Given the description of an element on the screen output the (x, y) to click on. 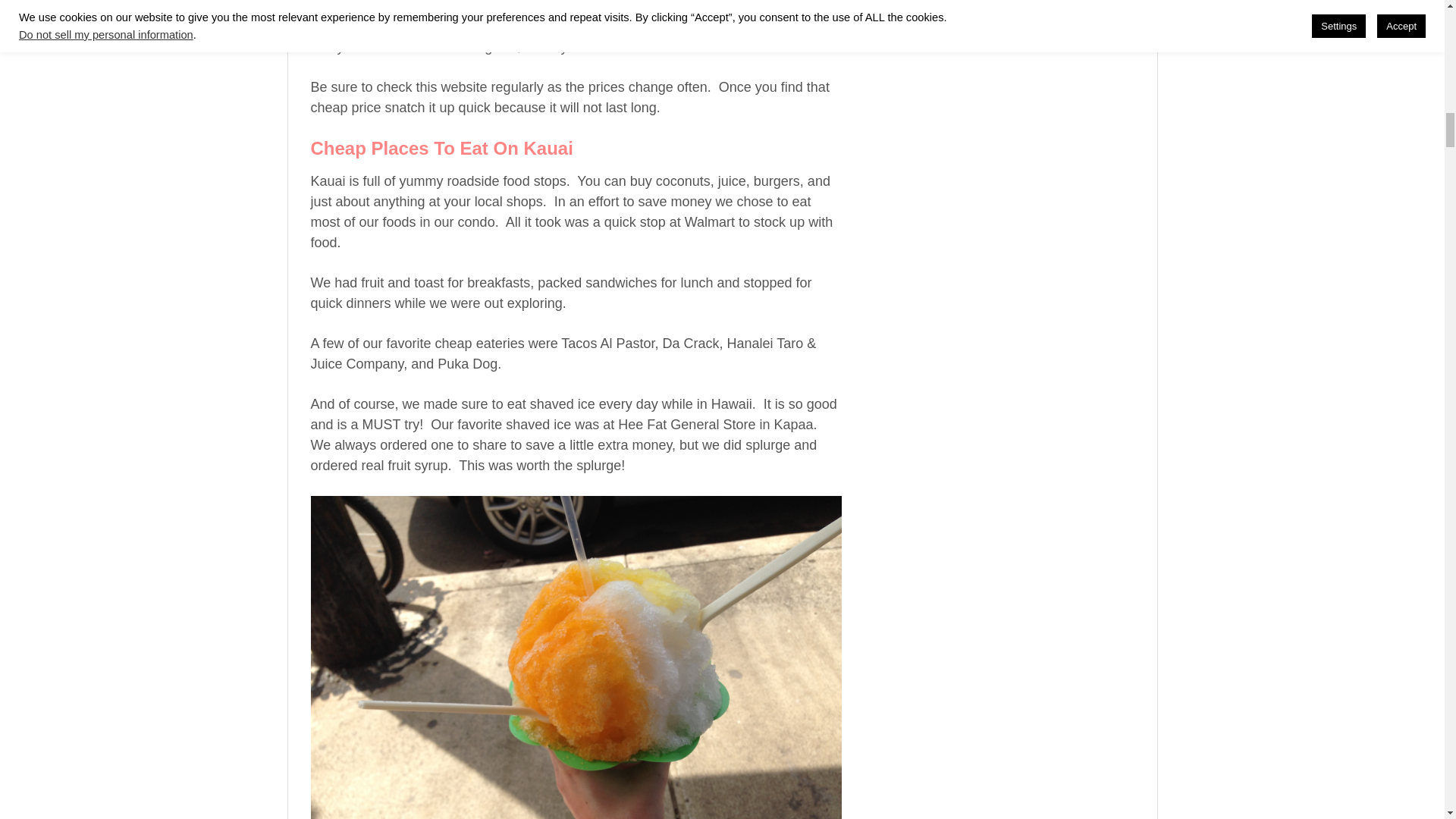
discounthawaiicarrental.com (664, 26)
